Given the description of an element on the screen output the (x, y) to click on. 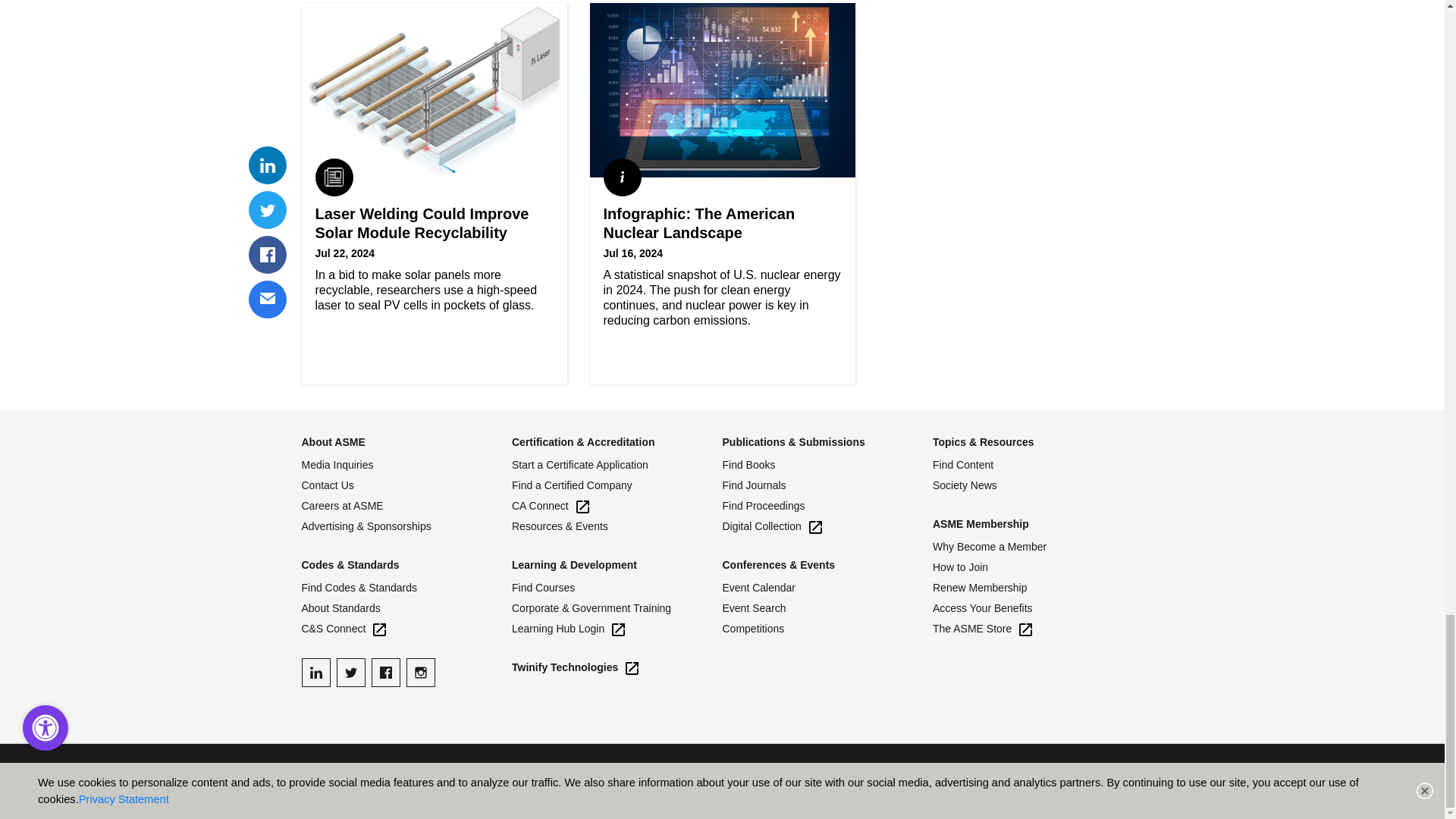
ASME on LinkedIn (315, 672)
ASME on Facebook (385, 672)
ASME on Twitter (350, 672)
ASME on Instagram (420, 672)
